Given the description of an element on the screen output the (x, y) to click on. 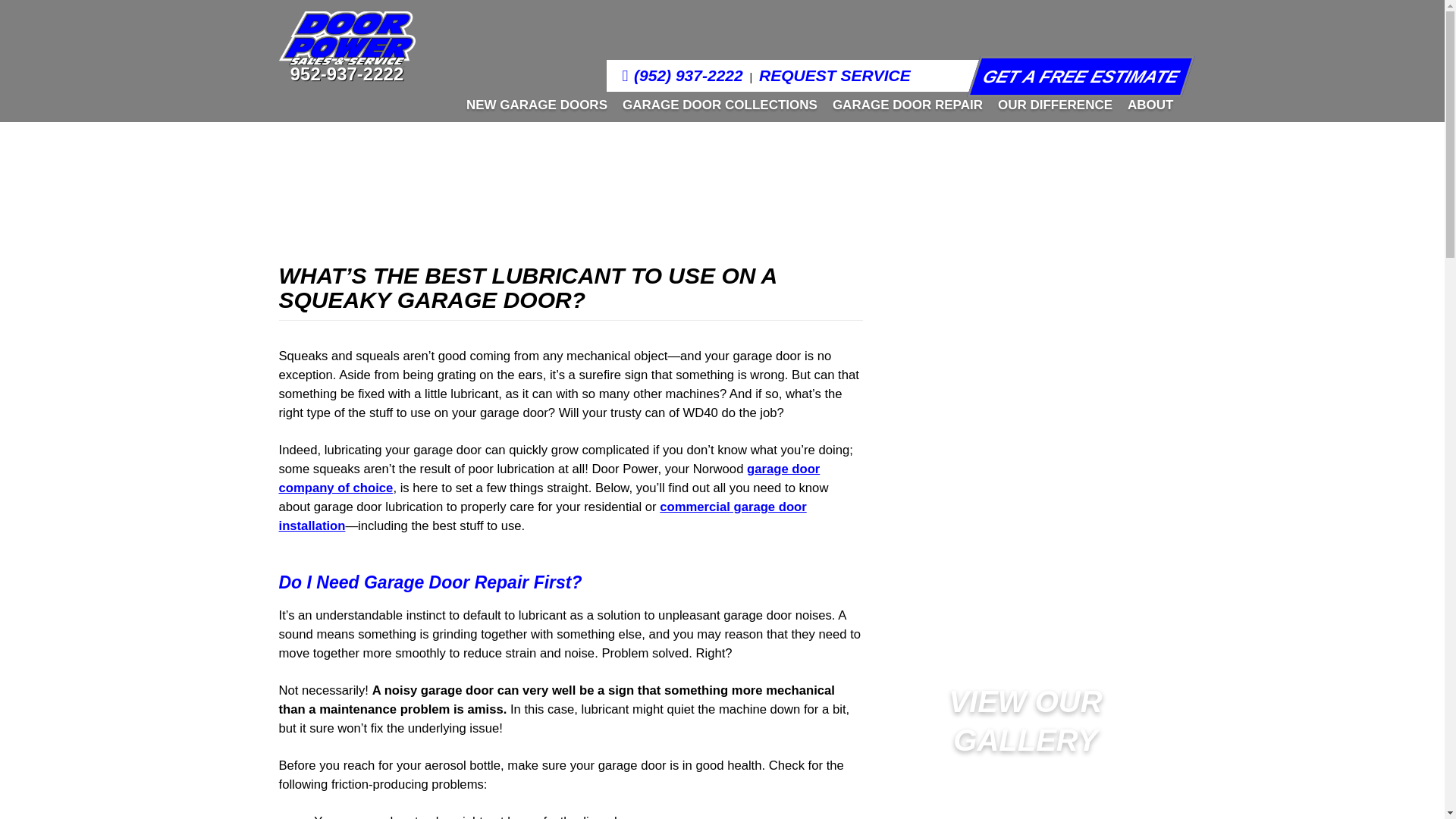
Call Us (681, 75)
Call Us (346, 73)
Get a Free Estimate (1073, 76)
Door Power (346, 38)
Door Power (346, 51)
GET A FREE ESTIMATE (1073, 76)
Garage Door Collections (715, 104)
952-937-2222 (346, 73)
REQUEST SERVICE (834, 75)
OUR DIFFERENCE (1051, 104)
Request Service (834, 75)
New Garage Doors (532, 104)
ABOUT (1146, 104)
GARAGE DOOR COLLECTIONS (715, 104)
GARAGE DOOR REPAIR (903, 104)
